Given the description of an element on the screen output the (x, y) to click on. 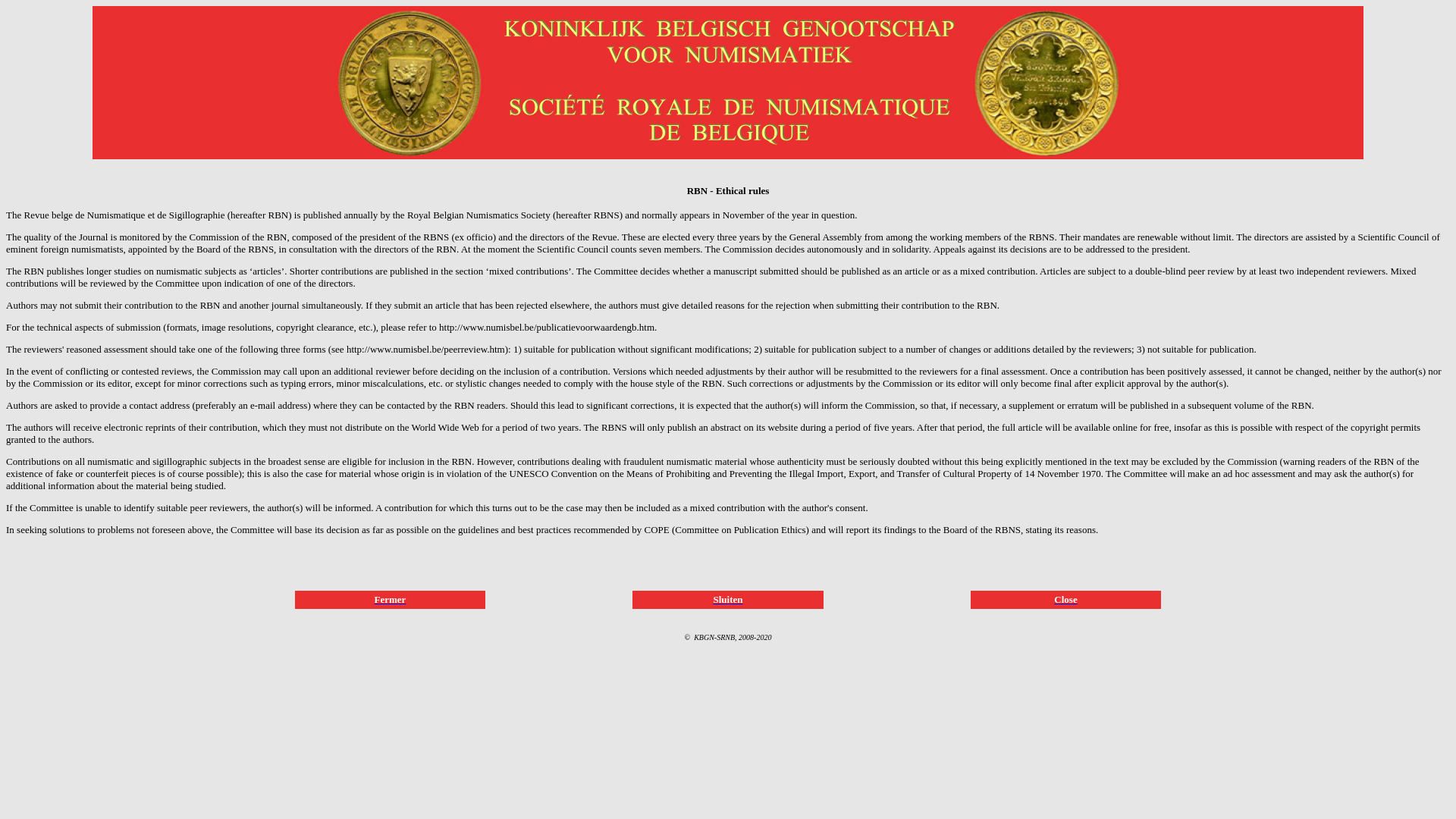
Sluiten (727, 598)
Fermer (390, 598)
Close (1065, 598)
